Given the description of an element on the screen output the (x, y) to click on. 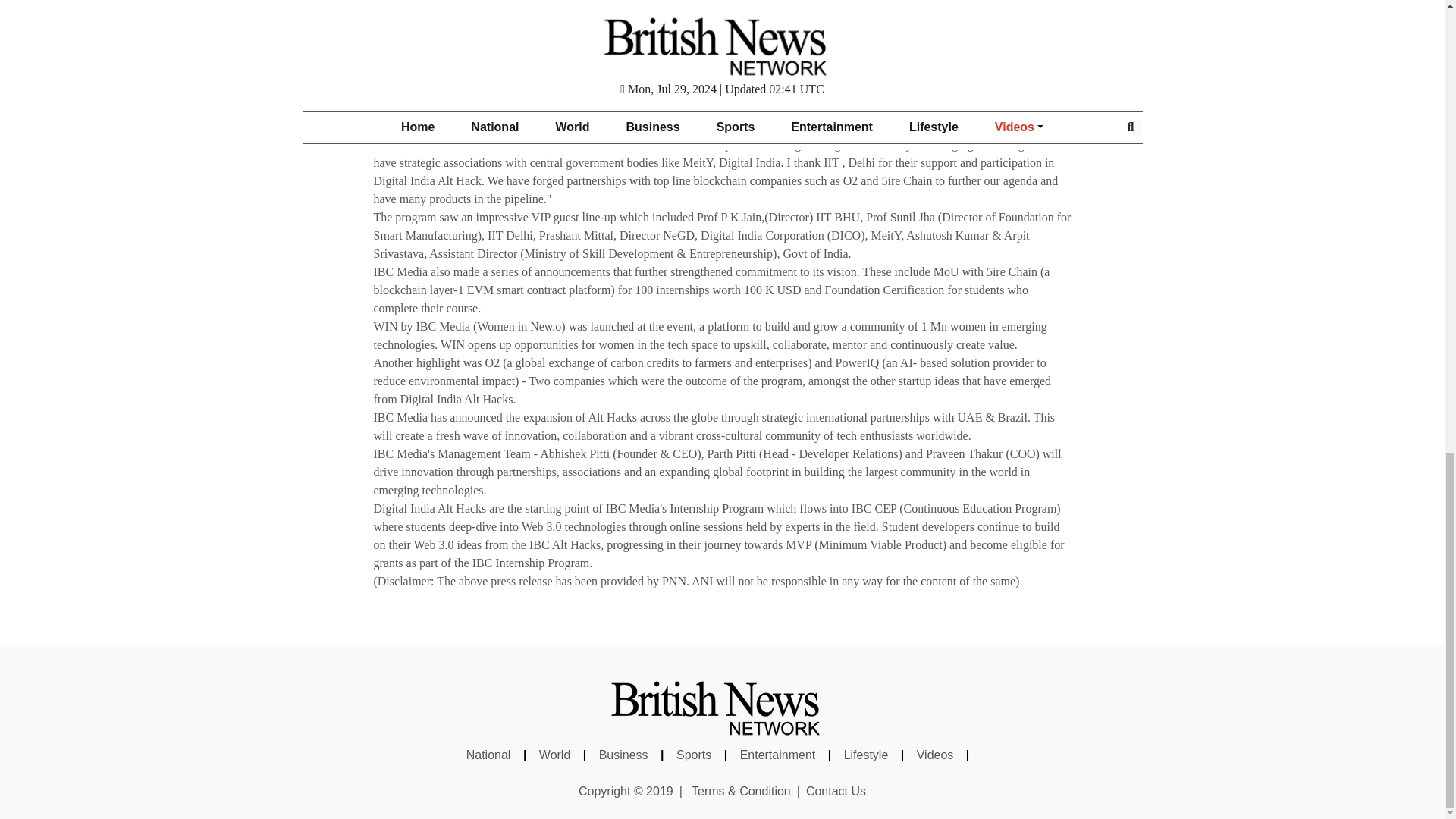
Entertainment (778, 754)
Videos (936, 754)
Contact Us (836, 790)
Business (624, 754)
World (555, 754)
National (489, 754)
Lifestyle (867, 754)
Sports (695, 754)
